Given the description of an element on the screen output the (x, y) to click on. 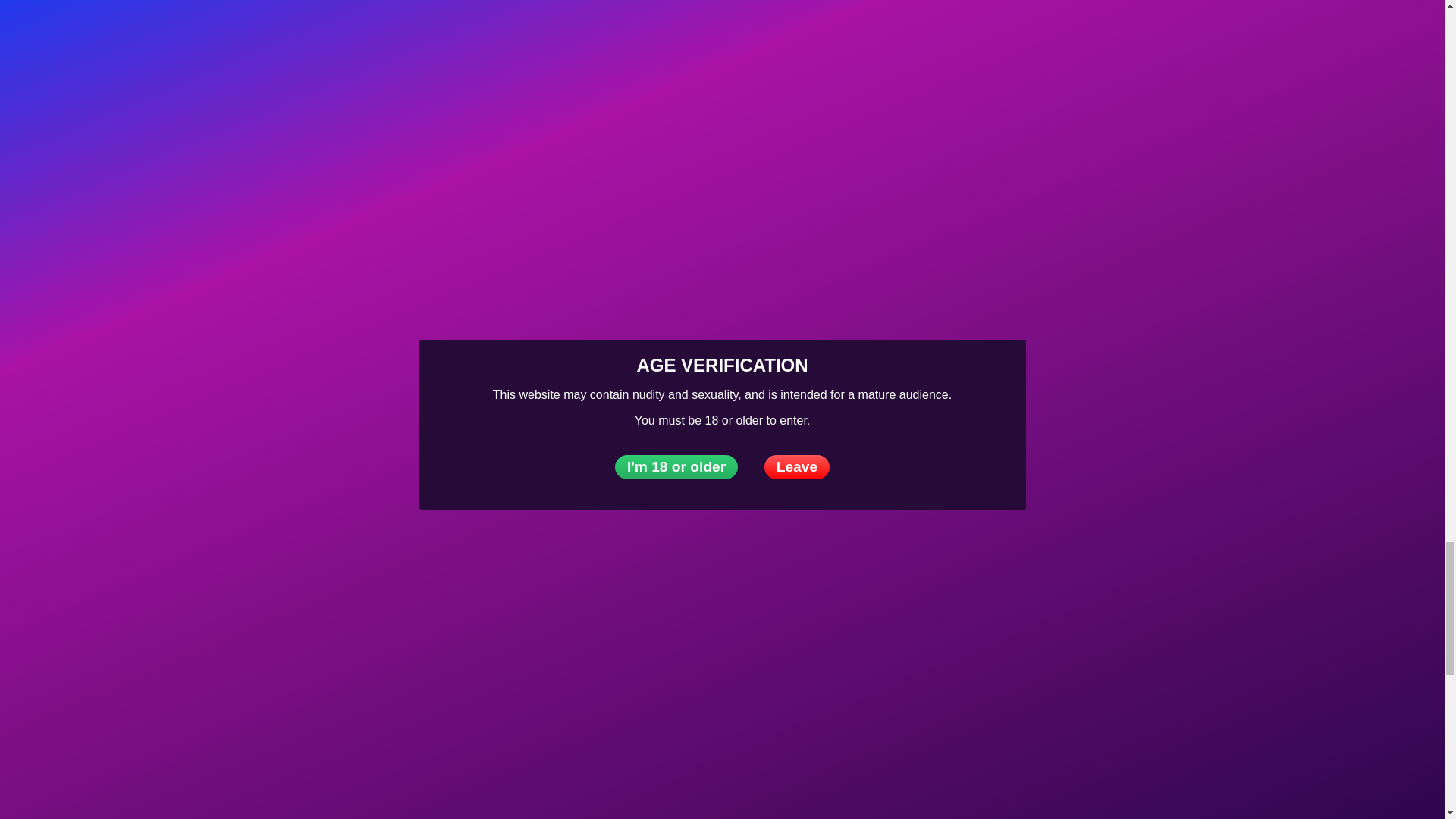
Search (36, 330)
